Given the description of an element on the screen output the (x, y) to click on. 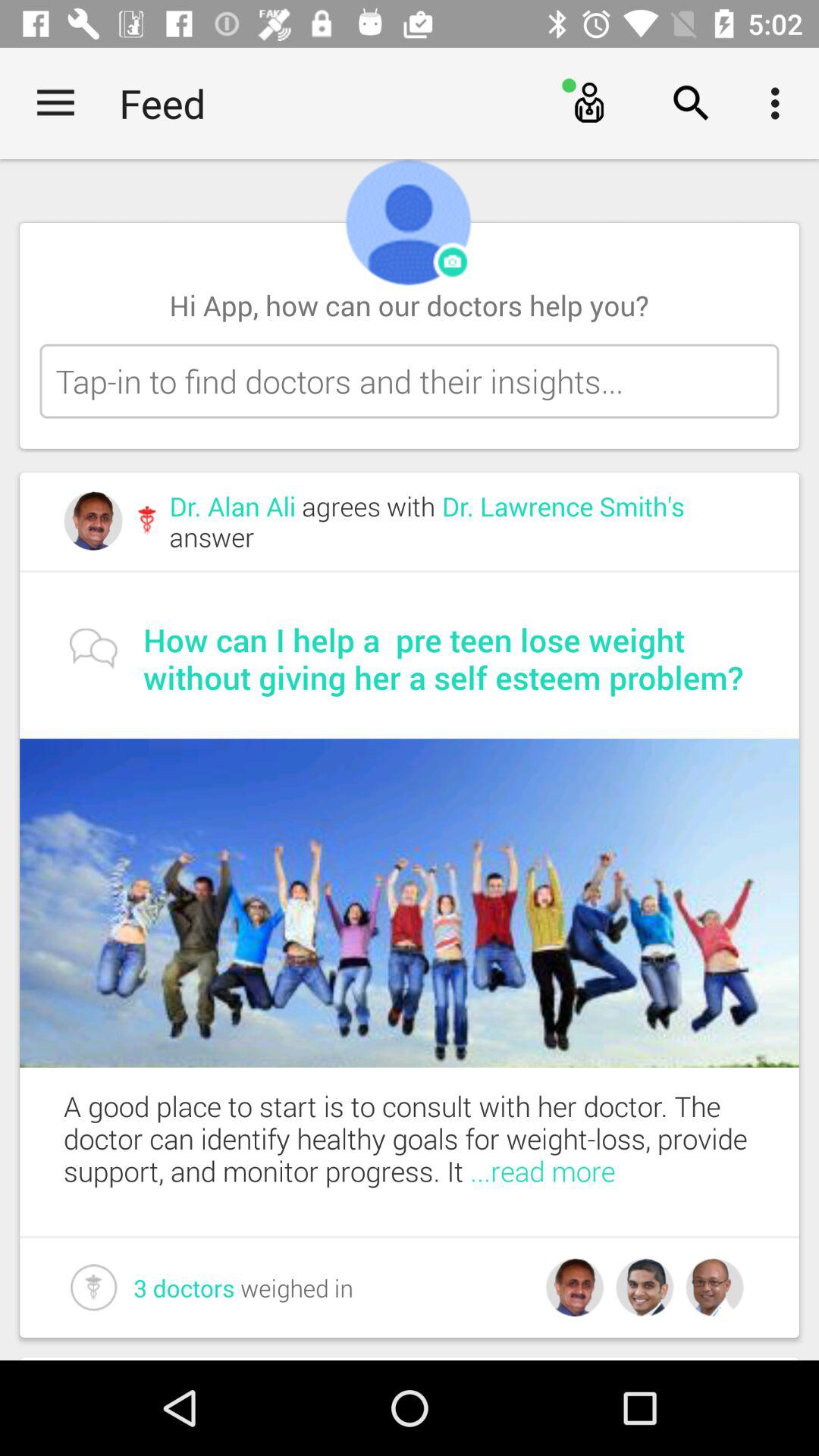
turn on item above a good place (409, 902)
